Given the description of an element on the screen output the (x, y) to click on. 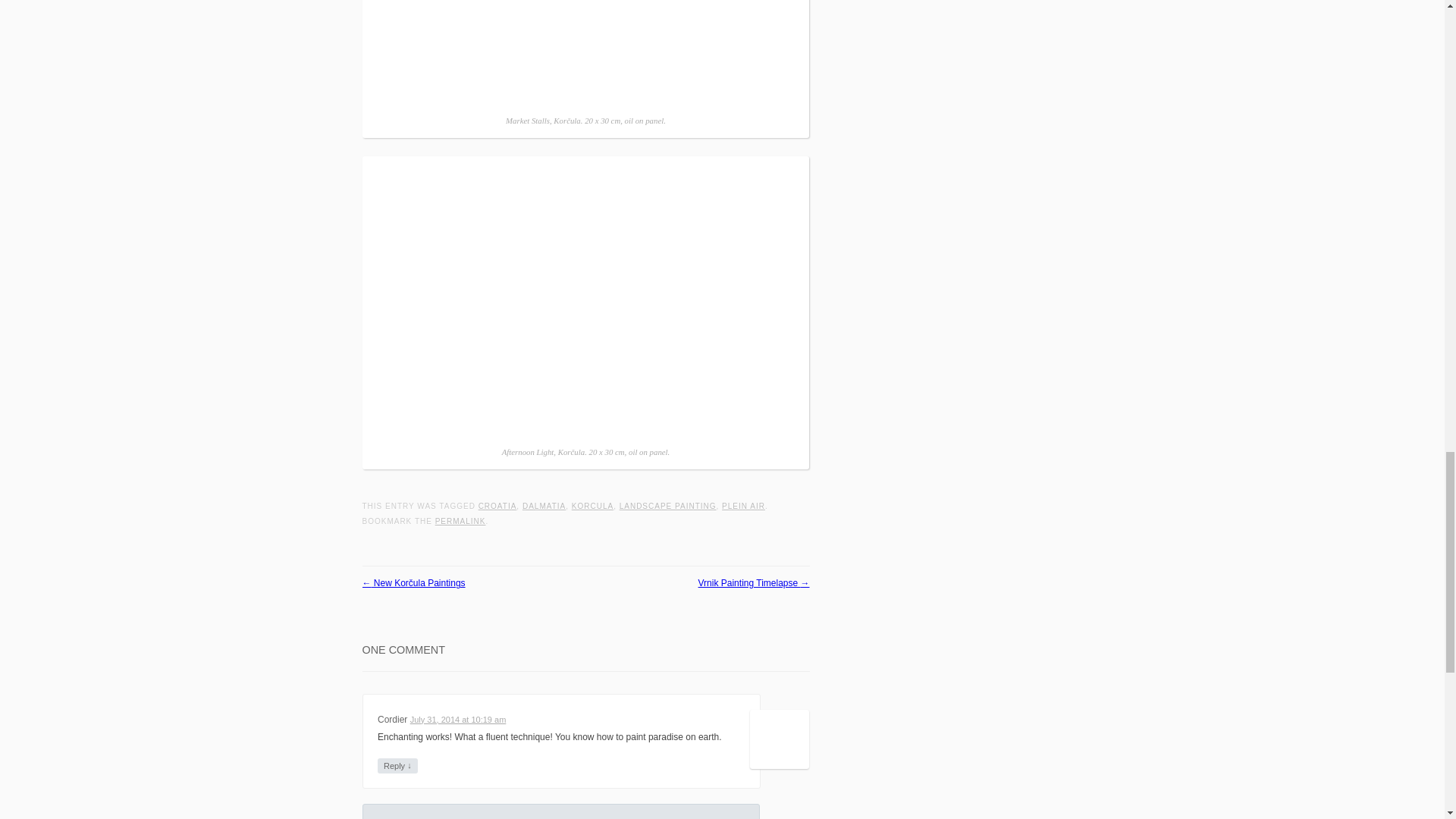
PLEIN AIR (743, 506)
DALMATIA (544, 506)
LANDSCAPE PAINTING (668, 506)
PERMALINK (460, 520)
KORCULA (592, 506)
July 31, 2014 at 10:19 am (458, 718)
CROATIA (497, 506)
